Given the description of an element on the screen output the (x, y) to click on. 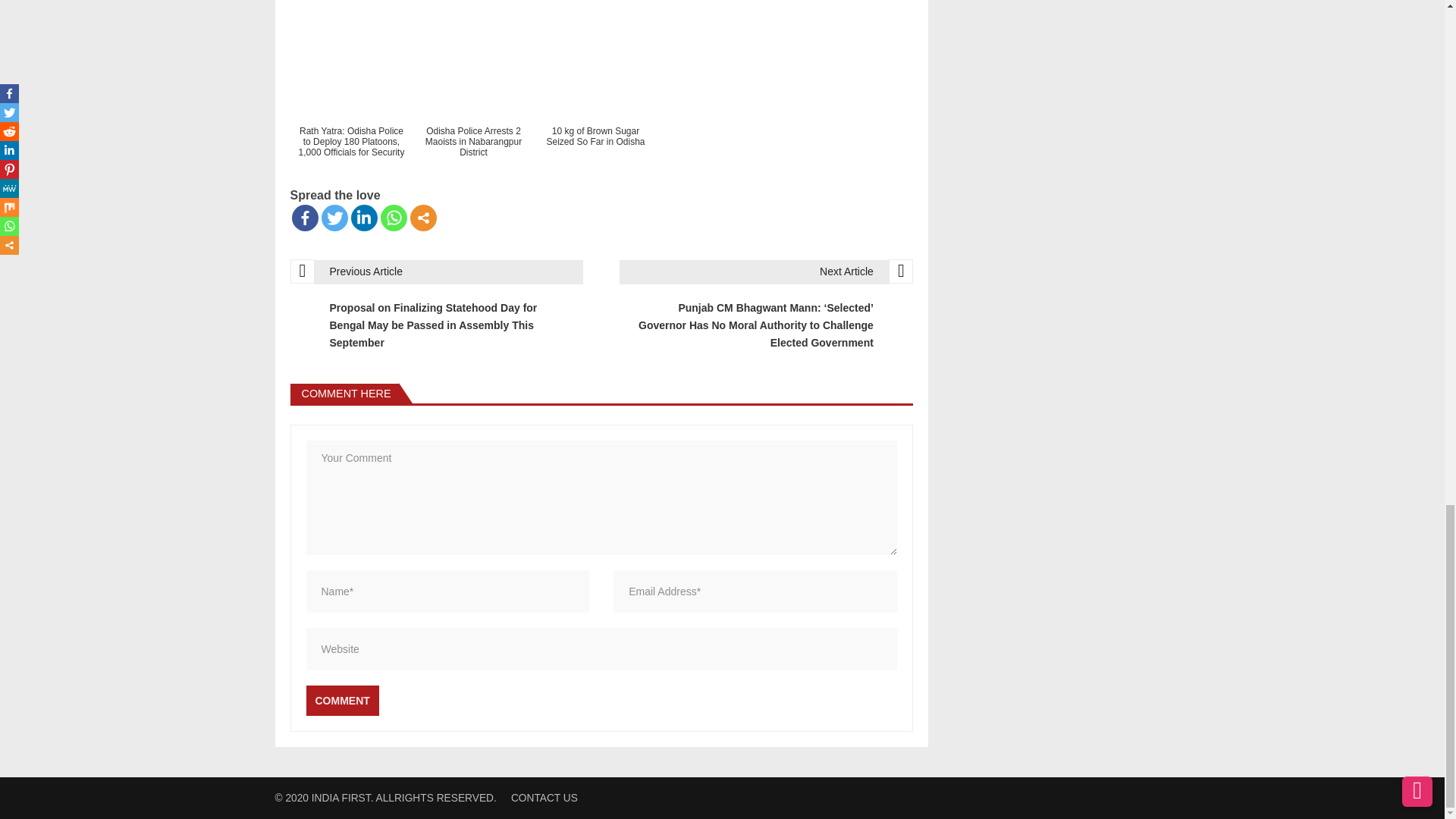
More (422, 217)
Whatsapp (393, 217)
Facebook (304, 217)
Twitter (334, 217)
Comment (341, 700)
Linkedin (363, 217)
